Given the description of an element on the screen output the (x, y) to click on. 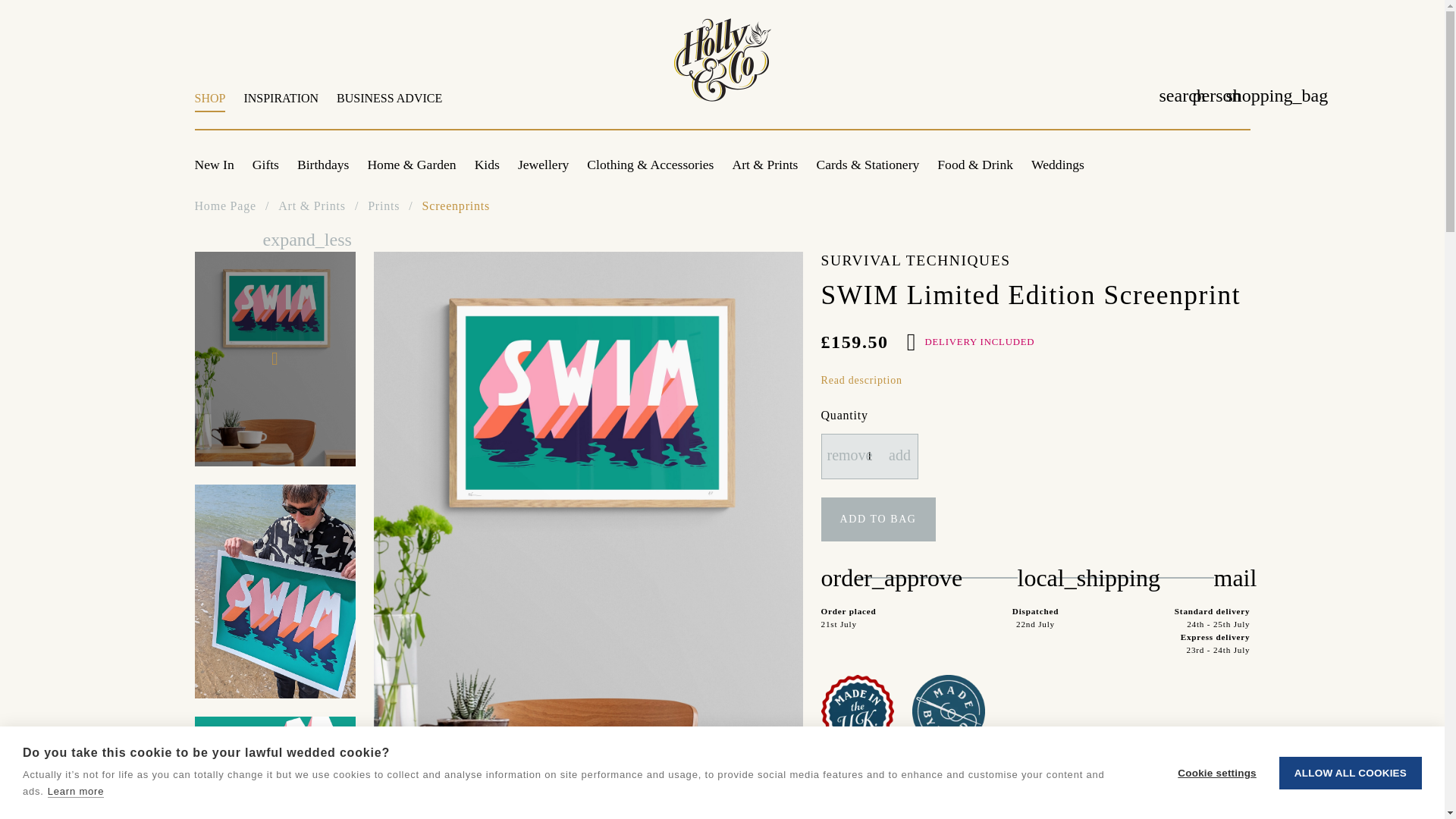
INSPIRATION (280, 106)
BUSINESS ADVICE (384, 106)
1 (869, 456)
